Given the description of an element on the screen output the (x, y) to click on. 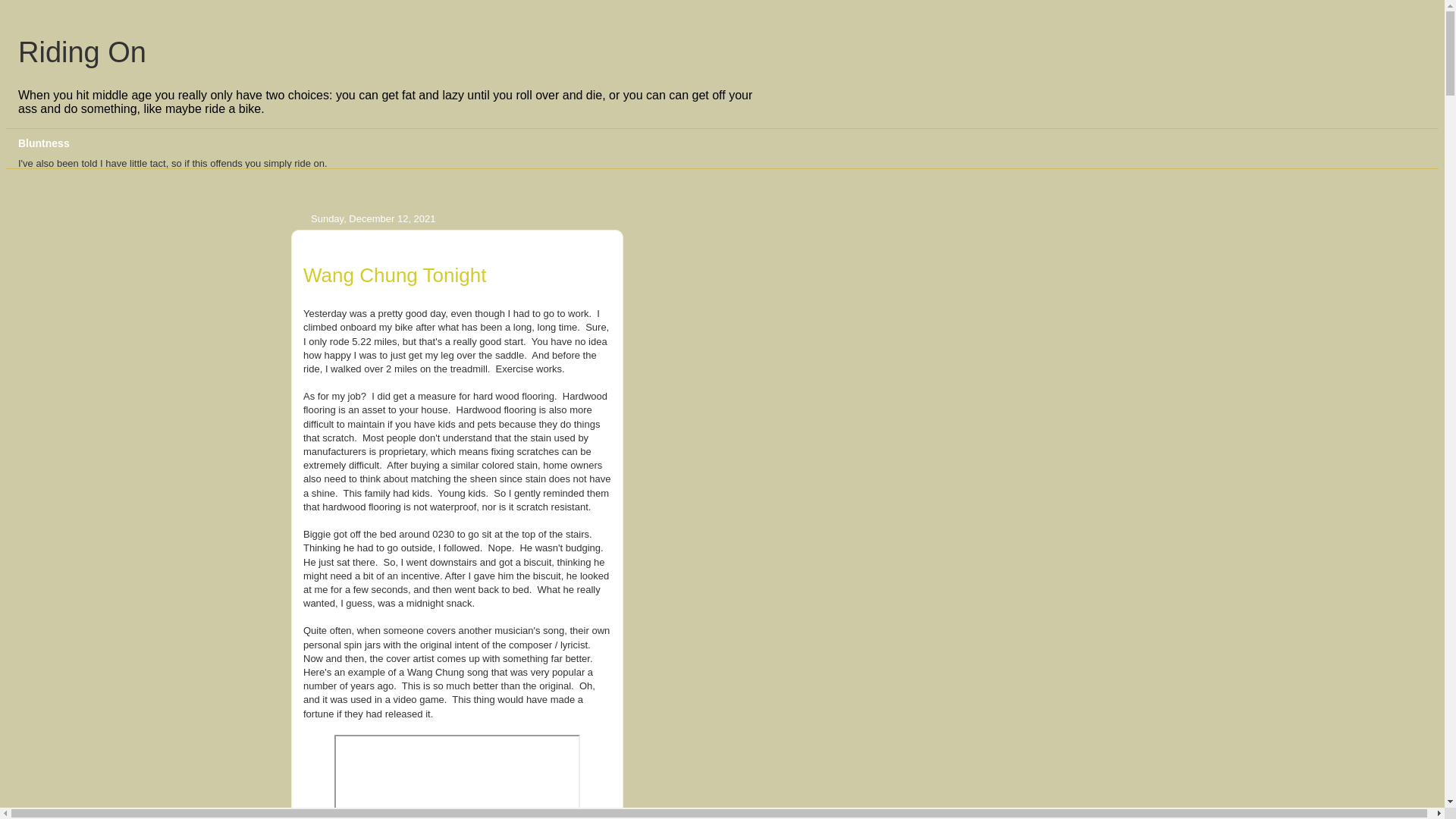
Riding On (82, 51)
